Given the description of an element on the screen output the (x, y) to click on. 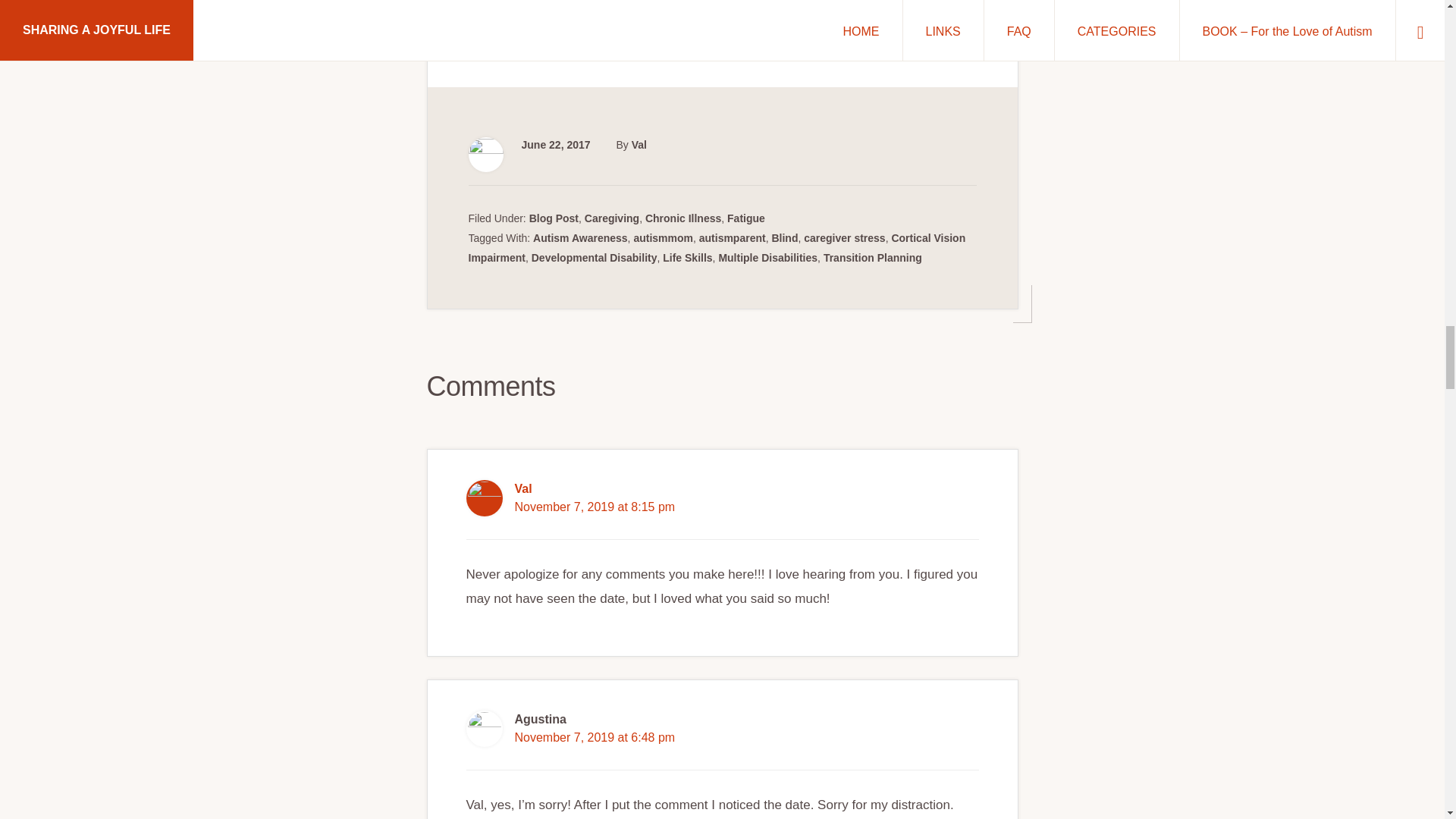
Blind (784, 237)
WordPress (484, 30)
autismparent (731, 237)
autismmom (663, 237)
Val (638, 144)
caregiver stress (844, 237)
Caregiving (612, 218)
Autism Awareness (579, 237)
Twitter (548, 30)
Pinterest (516, 30)
Email (643, 30)
Blog Post (553, 218)
Copy Link (611, 30)
Linkedin (580, 30)
Fatigue (745, 218)
